Given the description of an element on the screen output the (x, y) to click on. 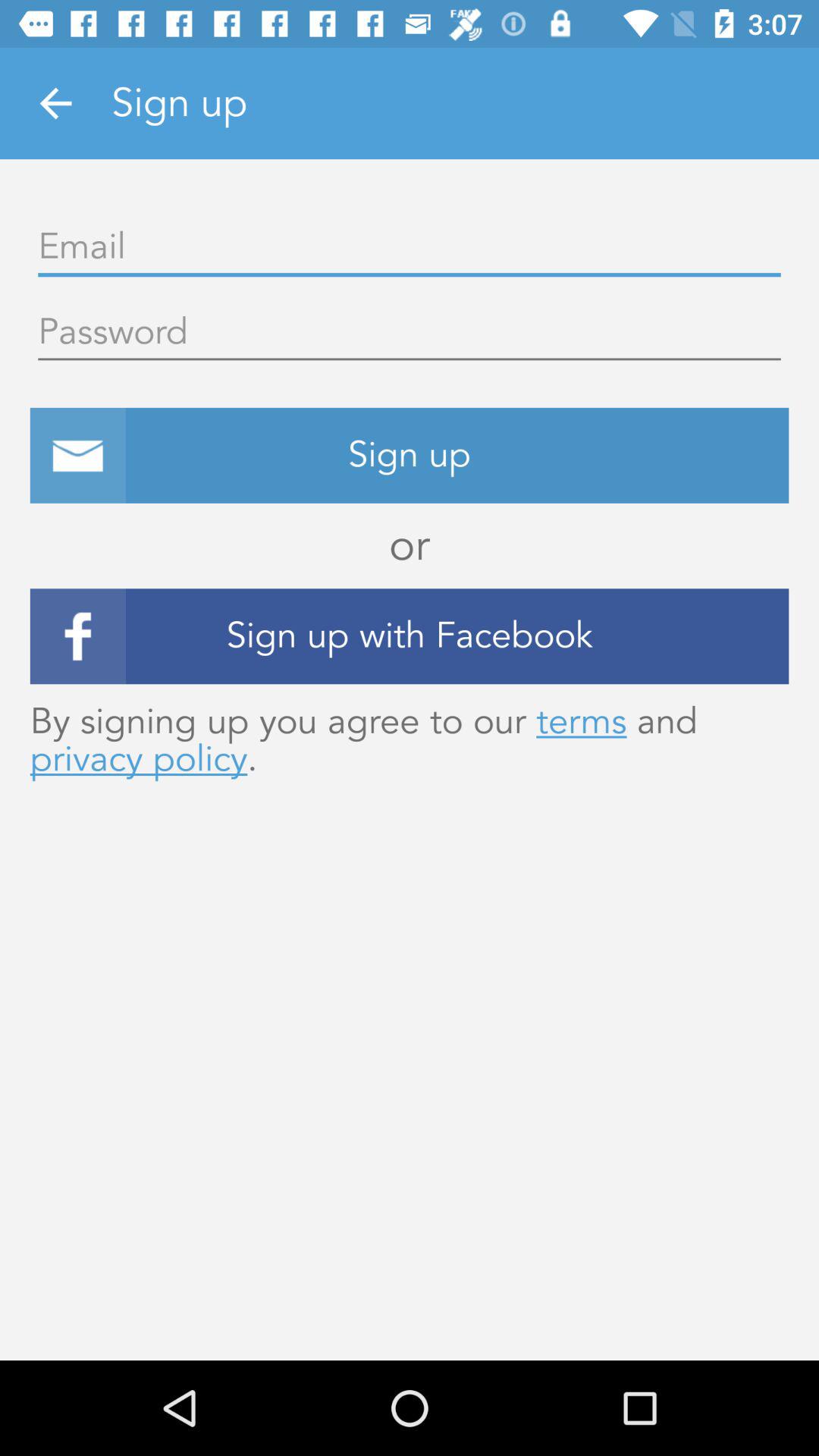
create a password (409, 332)
